Given the description of an element on the screen output the (x, y) to click on. 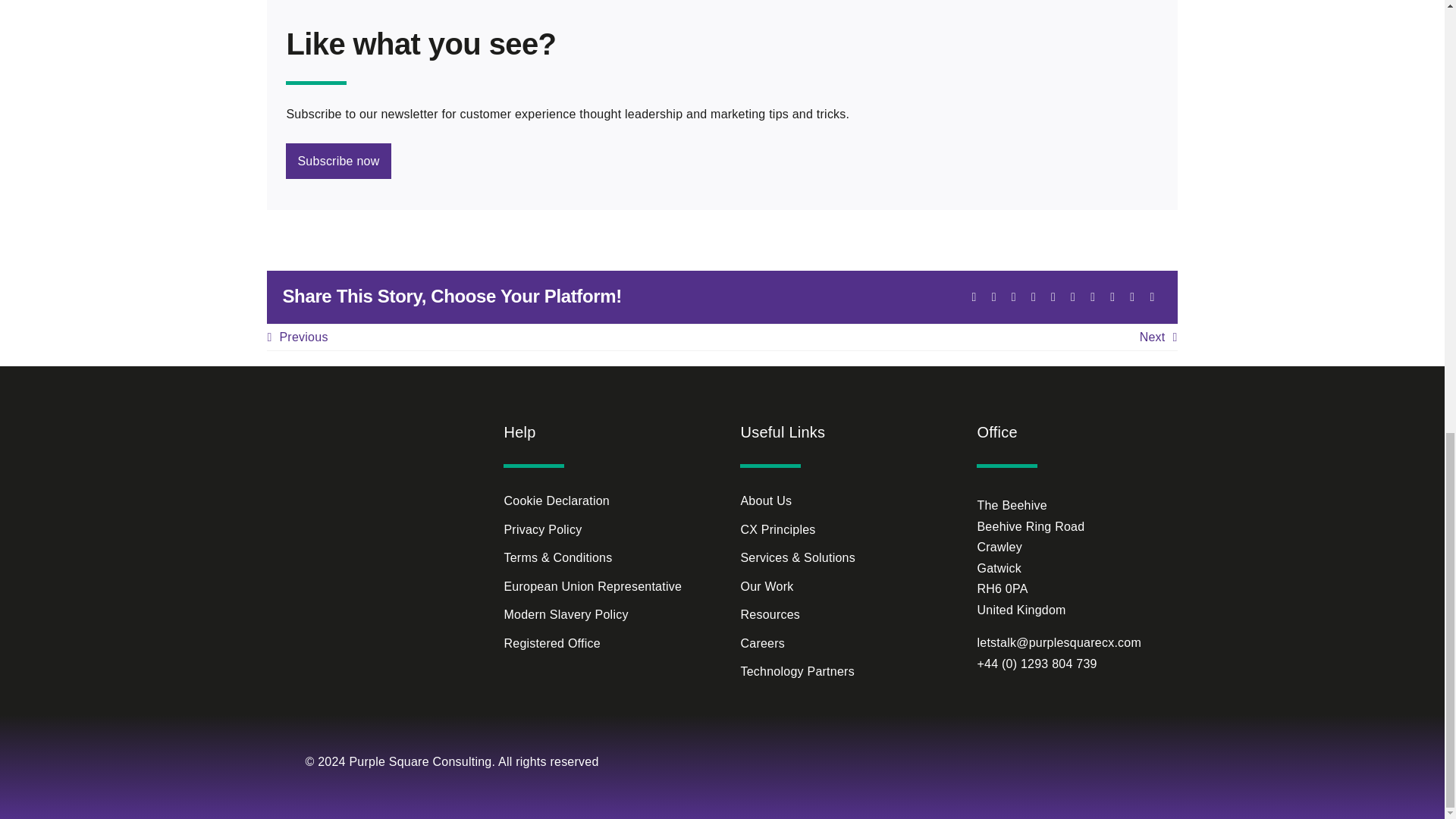
LinkedIn (1013, 296)
Telegram (1052, 296)
Xing (1131, 296)
Vk (1112, 296)
Pinterest (1092, 296)
Email (1151, 296)
WhatsApp (1033, 296)
Tumblr (1072, 296)
X (973, 296)
Subscribe now (721, 160)
